Given the description of an element on the screen output the (x, y) to click on. 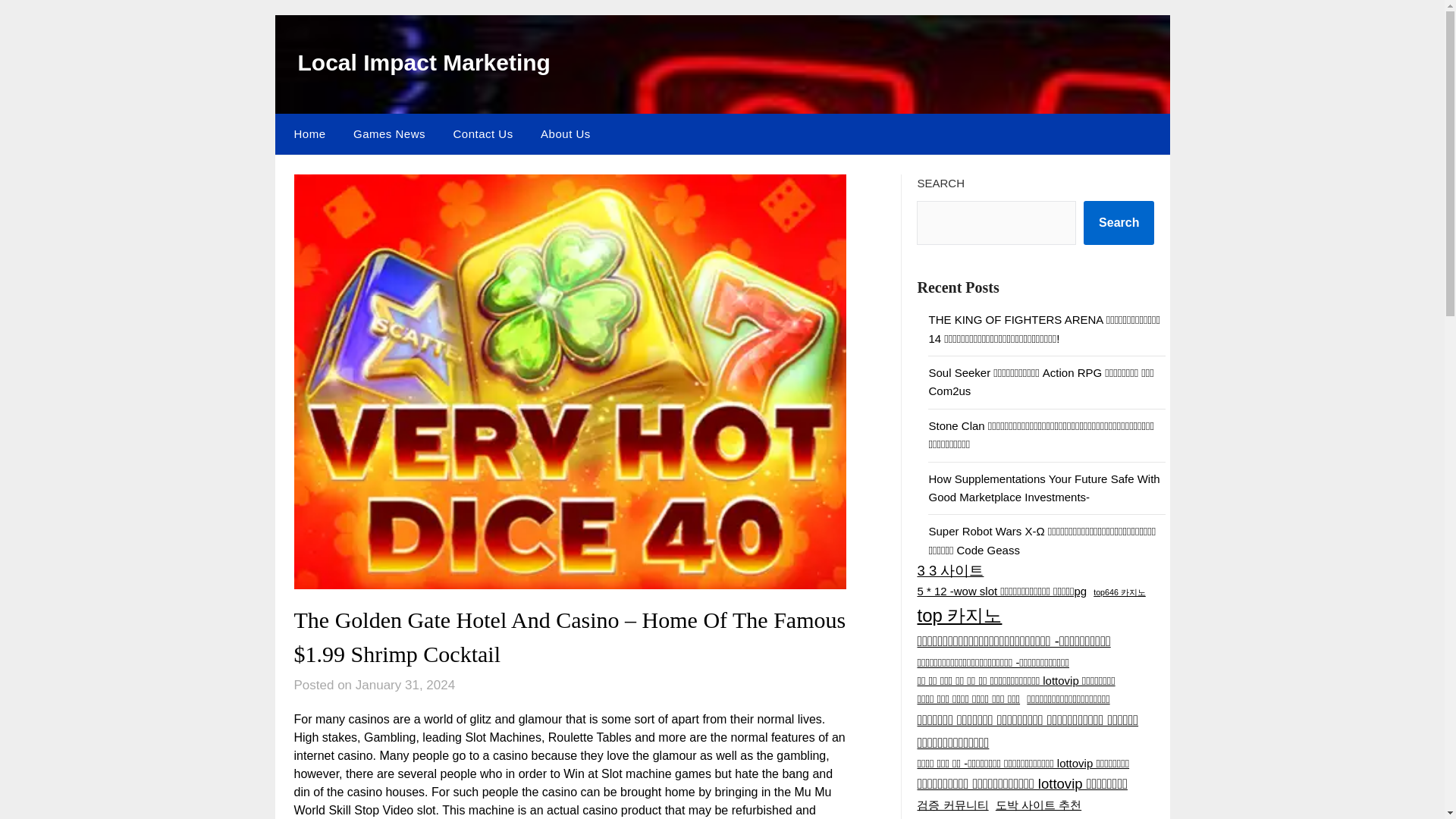
Contact Us (482, 133)
About Us (565, 133)
Games News (389, 133)
Local Impact Marketing (423, 62)
Search (1118, 222)
Home (306, 133)
